Given the description of an element on the screen output the (x, y) to click on. 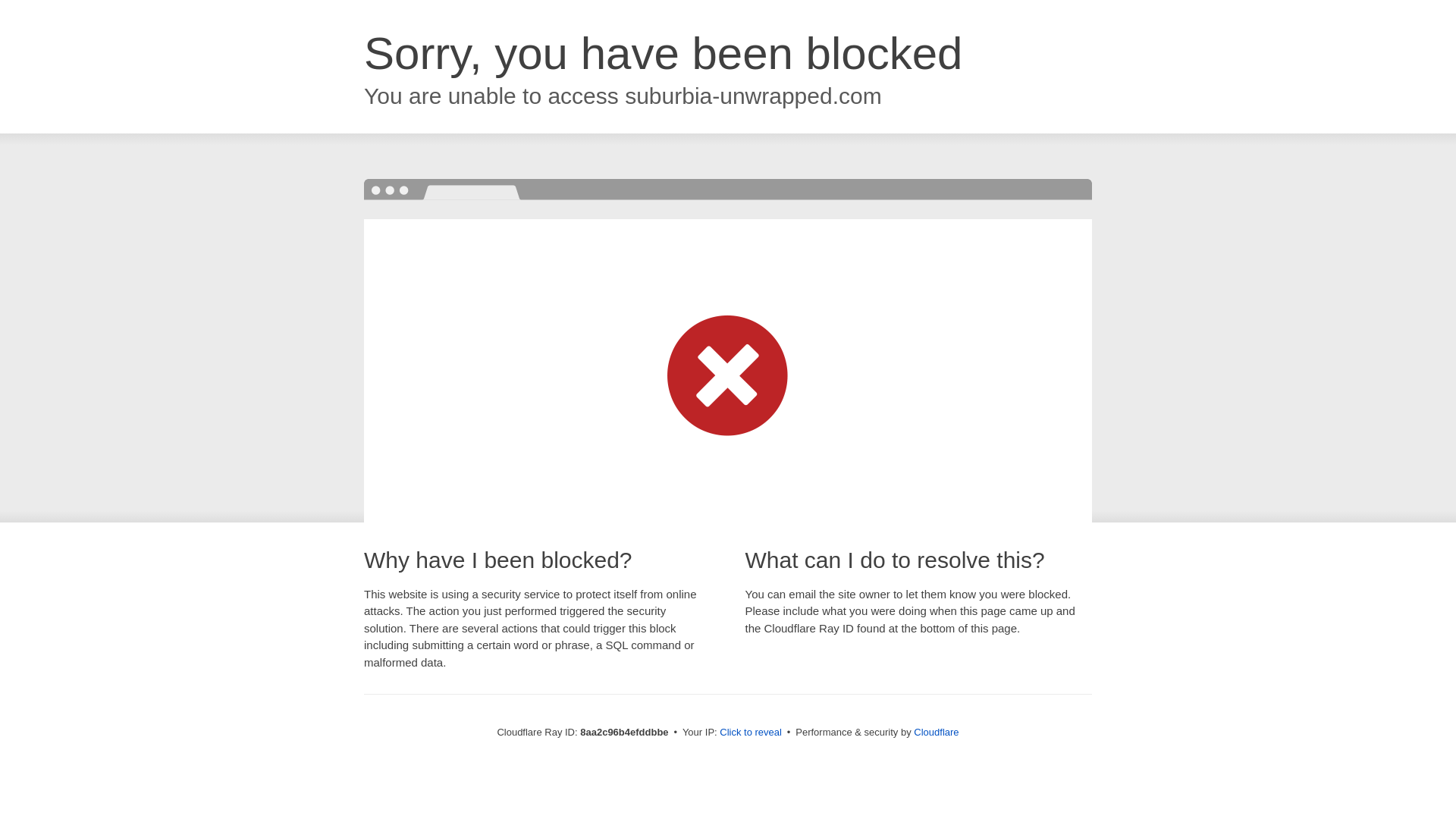
Click to reveal (750, 732)
Cloudflare (936, 731)
